Given the description of an element on the screen output the (x, y) to click on. 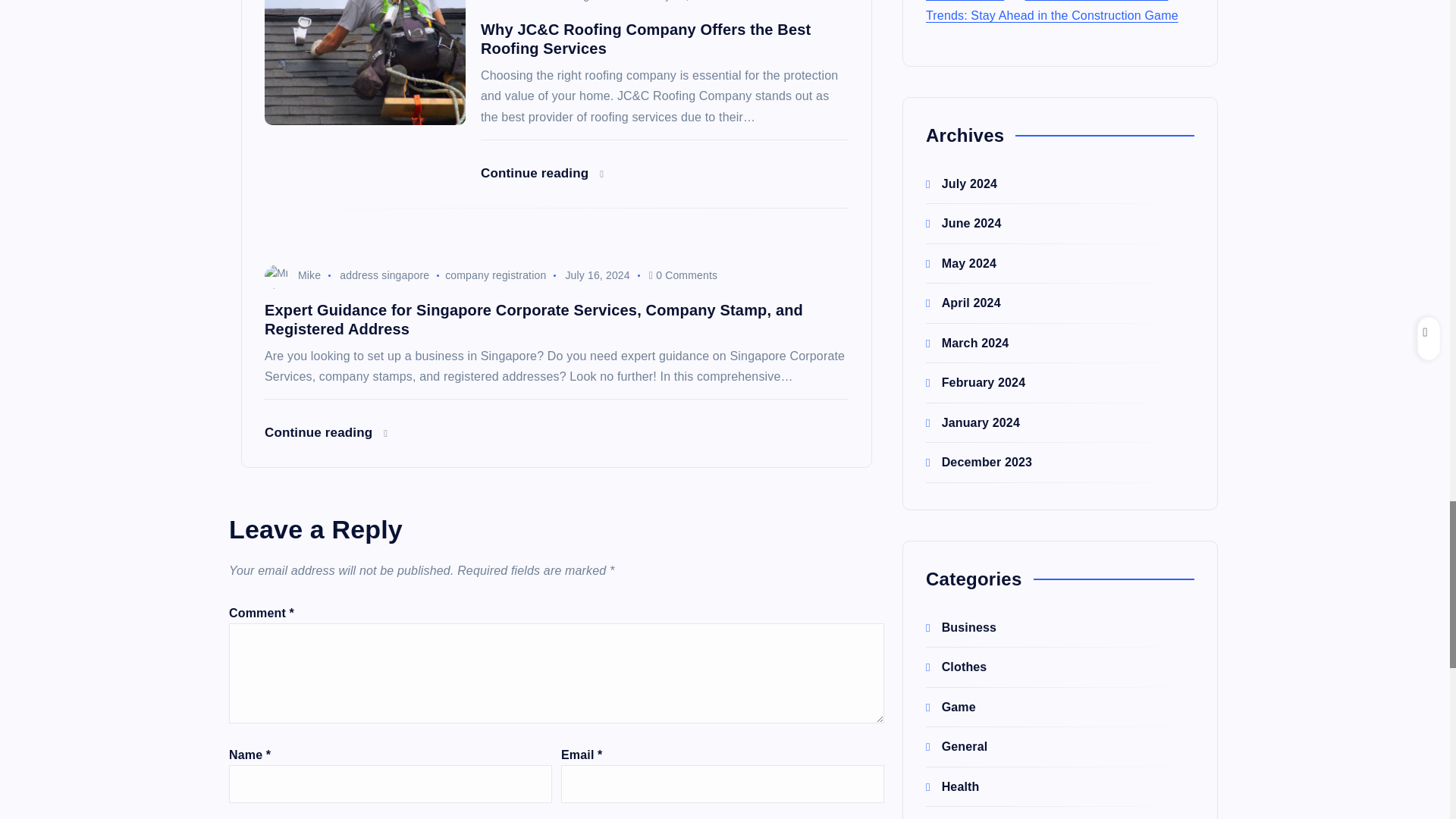
address singapore (384, 275)
company registration (495, 275)
Mike (508, 0)
Mike (292, 275)
Continue reading (325, 432)
Continue reading (542, 173)
roofing services (593, 0)
